Given the description of an element on the screen output the (x, y) to click on. 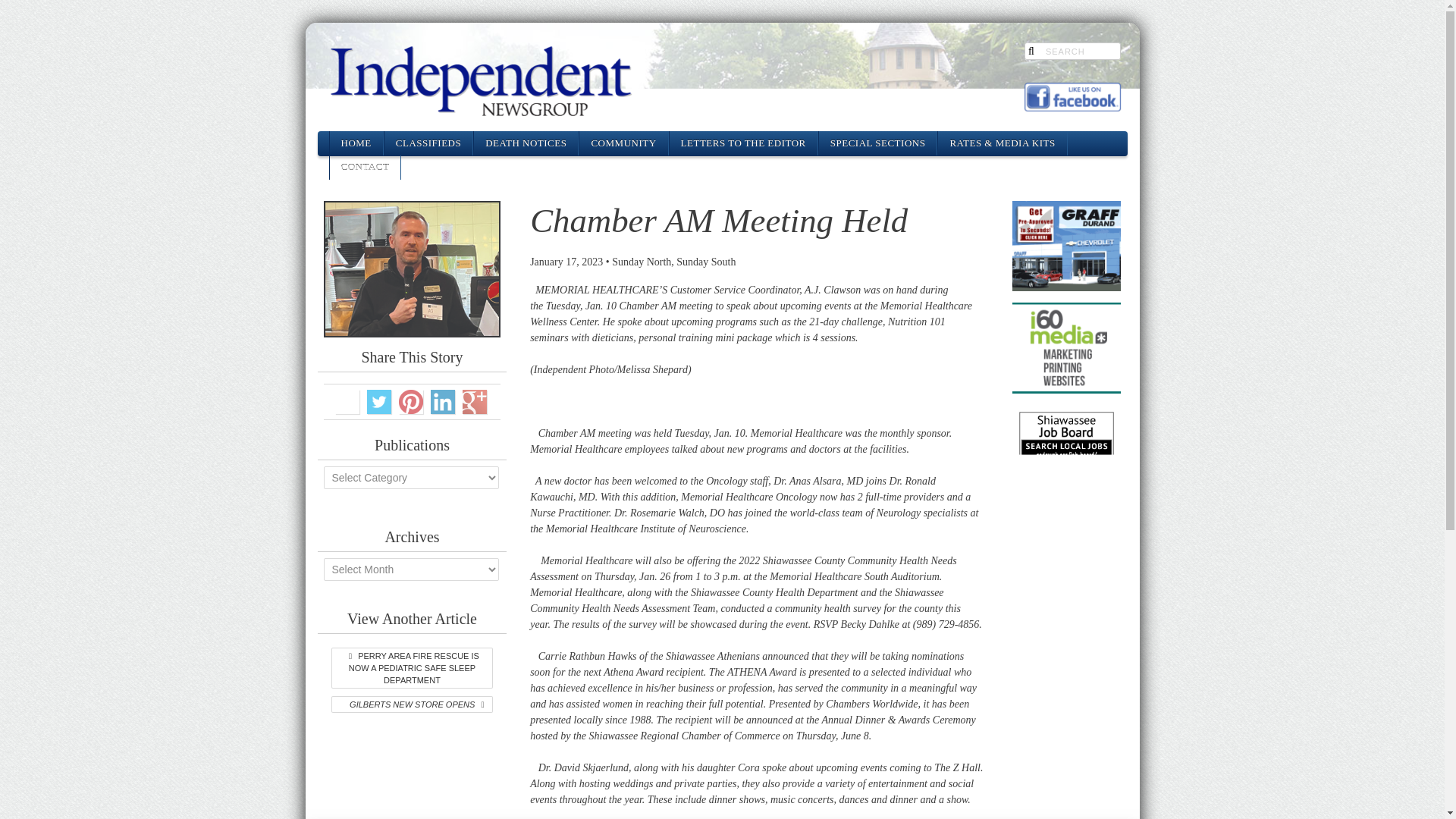
CONTACT (364, 167)
CLASSIFIEDS (427, 143)
View all posts in Sunday South (706, 261)
Twitter (378, 401)
Pinterest (410, 401)
Share on Pinterest (410, 401)
View all posts in Sunday North (641, 261)
HOME (355, 143)
Share on Facebook (346, 401)
LETTERS TO THE EDITOR (742, 143)
